Given the description of an element on the screen output the (x, y) to click on. 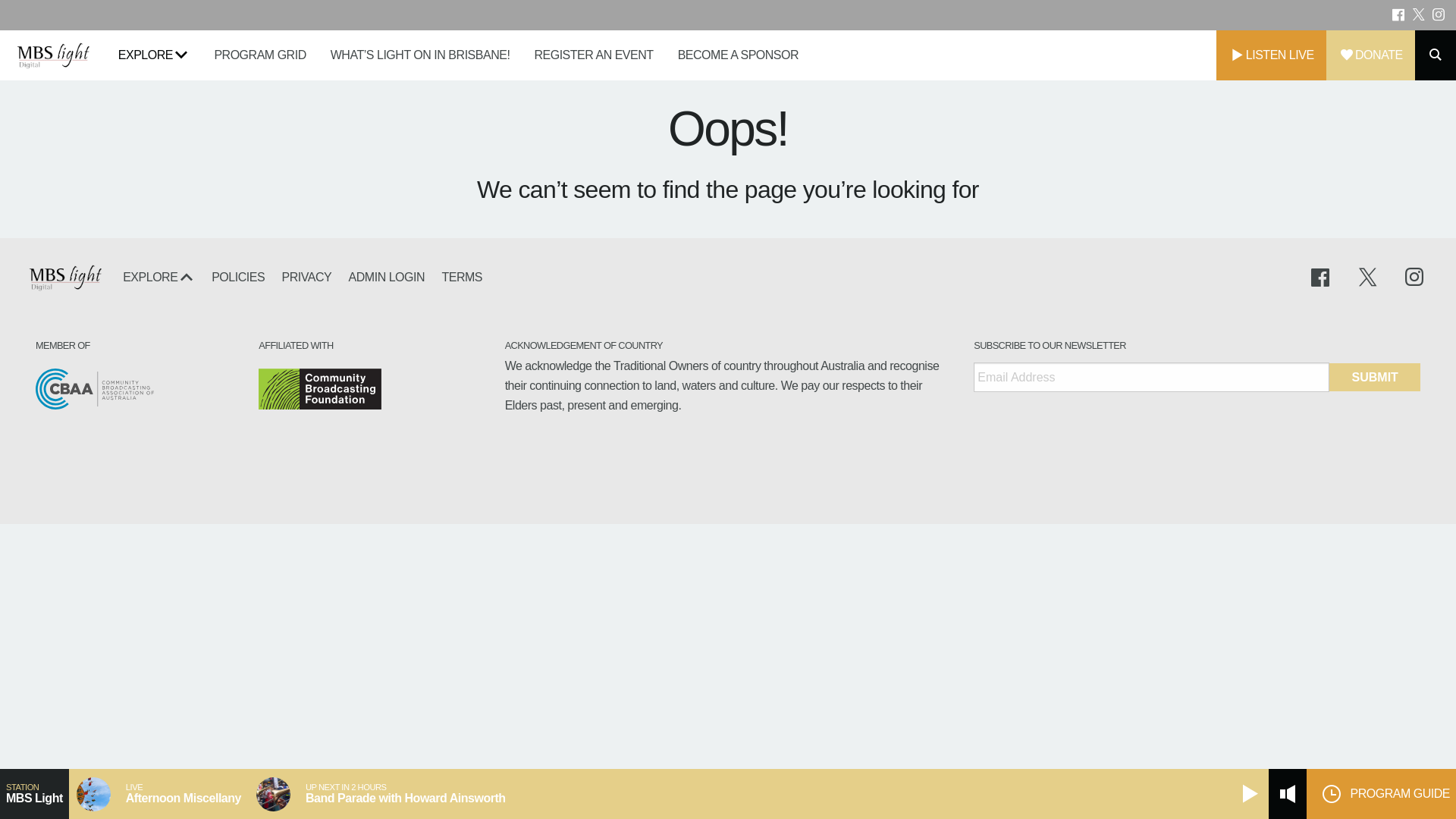
EXPLORE Element type: text (154, 55)
PRIVACY Element type: text (306, 277)
  Element type: text (1326, 277)
DONATE Element type: text (1370, 55)
POLICIES Element type: text (238, 277)
  Element type: text (1419, 14)
TERMS Element type: text (457, 277)
EXPLORE Element type: text (158, 277)
PROGRAM GRID Element type: text (259, 55)
  Element type: text (1412, 277)
  Element type: text (1369, 277)
BECOME A SPONSOR Element type: text (737, 55)
  Element type: text (1399, 14)
  Element type: text (1439, 14)
LISTEN LIVE Element type: text (1270, 55)
REGISTER AN EVENT Element type: text (593, 55)
ADMIN LOGIN Element type: text (386, 277)
Submit Element type: text (1374, 377)
